Given the description of an element on the screen output the (x, y) to click on. 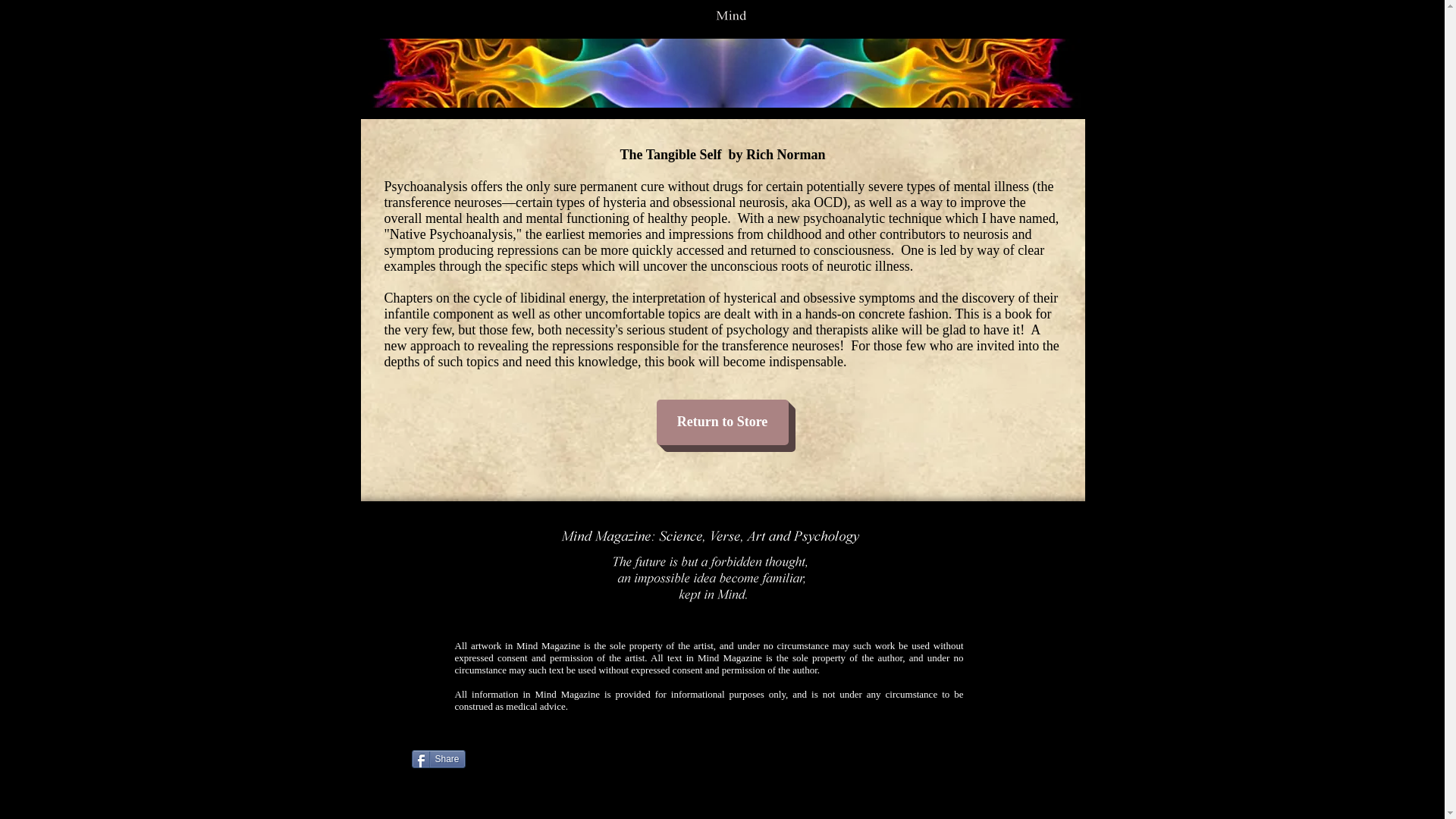
Your Brain on Fractals thin and long.jpg (722, 72)
Mind Magazine Title Silver Text.png (731, 15)
Share (437, 759)
Return to Store (722, 422)
Facebook Like (451, 765)
Share (437, 759)
